Given the description of an element on the screen output the (x, y) to click on. 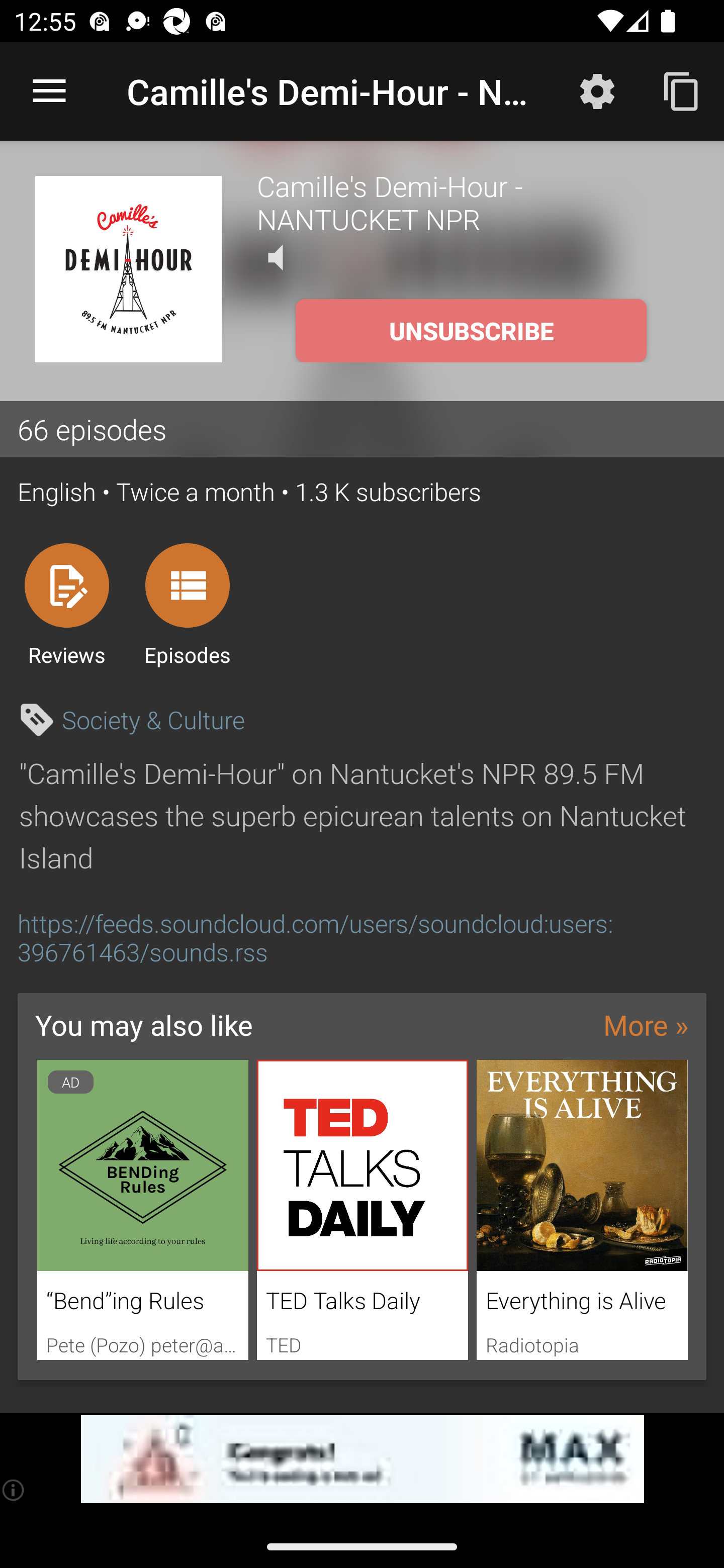
Open navigation sidebar (49, 91)
Settings (597, 90)
Copy feed url to clipboard (681, 90)
Camille's Demi-Hour - NANTUCKET NPR (472, 202)
UNSUBSCRIBE (470, 330)
Reviews (66, 604)
Episodes (187, 604)
More » (645, 1024)
TED Talks Daily TED (362, 1209)
Everything is Alive Radiotopia (581, 1209)
app-monetization (362, 1459)
(i) (14, 1489)
